Given the description of an element on the screen output the (x, y) to click on. 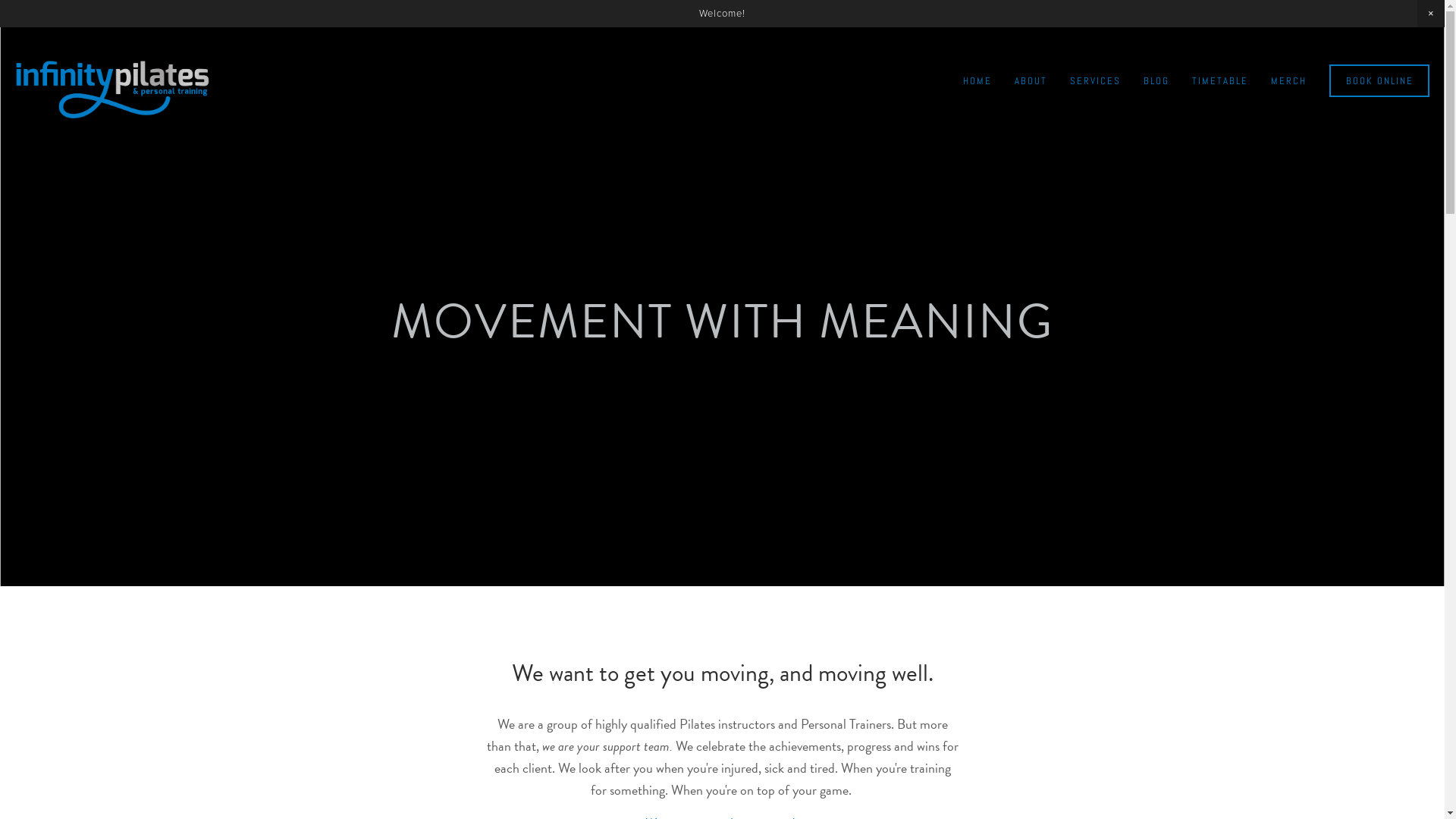
TIMETABLE Element type: text (1220, 80)
HOME Element type: text (977, 80)
BLOG Element type: text (1156, 80)
BOOK ONLINE Element type: text (1379, 80)
MERCH Element type: text (1288, 80)
